Given the description of an element on the screen output the (x, y) to click on. 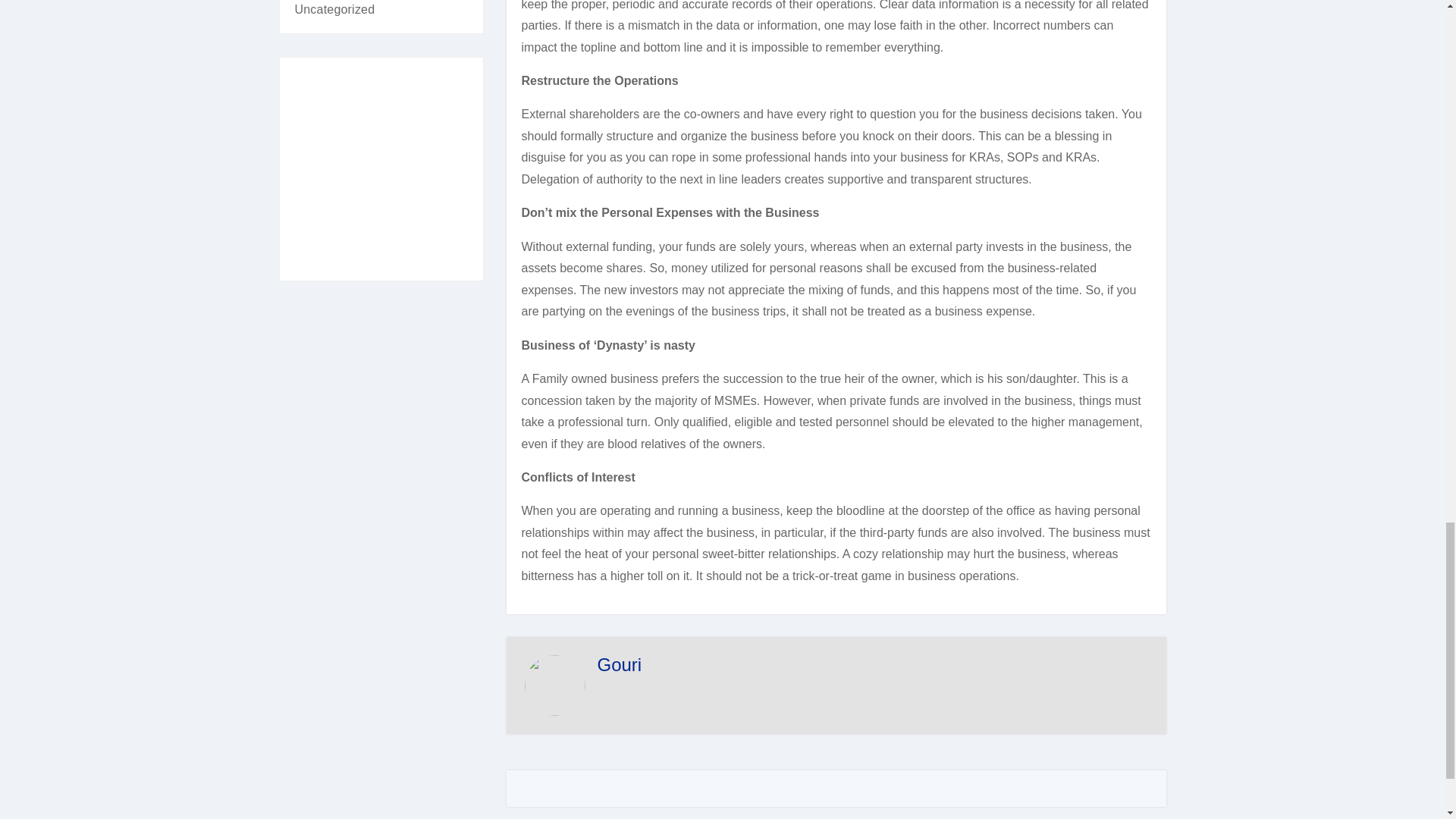
Gouri (619, 664)
Uncategorized (334, 9)
